Given the description of an element on the screen output the (x, y) to click on. 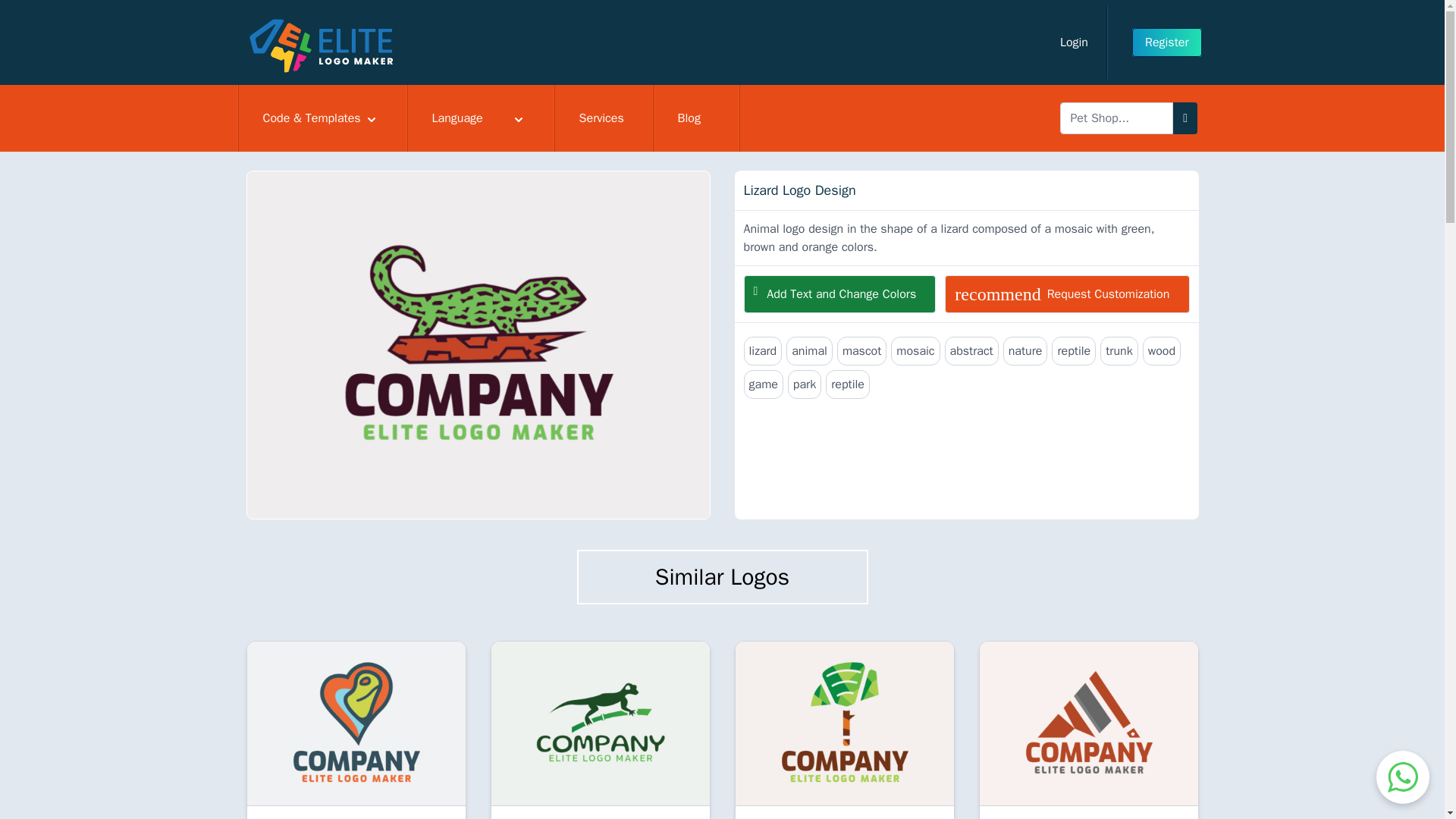
reptile (1073, 350)
game (762, 384)
animal (809, 350)
Register (1167, 41)
Services (603, 118)
mosaic (1066, 293)
abstract (915, 350)
Add Text and Change Colors (971, 350)
reptile (839, 293)
Language (847, 384)
Login (480, 118)
wood (1074, 42)
trunk (1161, 350)
